Given the description of an element on the screen output the (x, y) to click on. 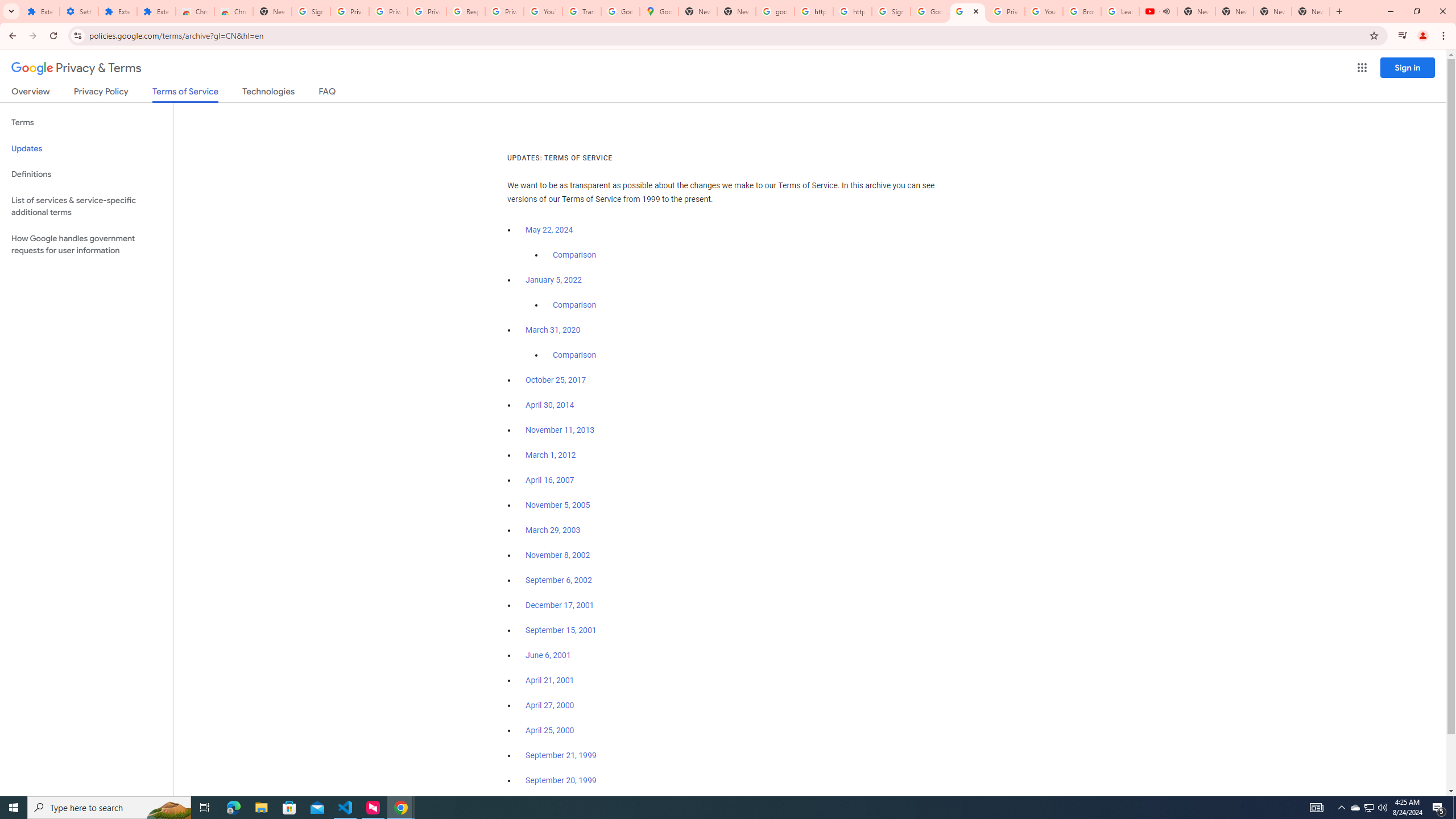
December 17, 2001 (559, 605)
Sign in - Google Accounts (310, 11)
April 16, 2007 (550, 480)
September 20, 1999 (560, 780)
November 8, 2002 (557, 555)
YouTube (1043, 11)
How Google handles government requests for user information (86, 244)
New Tab (272, 11)
Chrome Web Store (194, 11)
Extensions (117, 11)
